Given the description of an element on the screen output the (x, y) to click on. 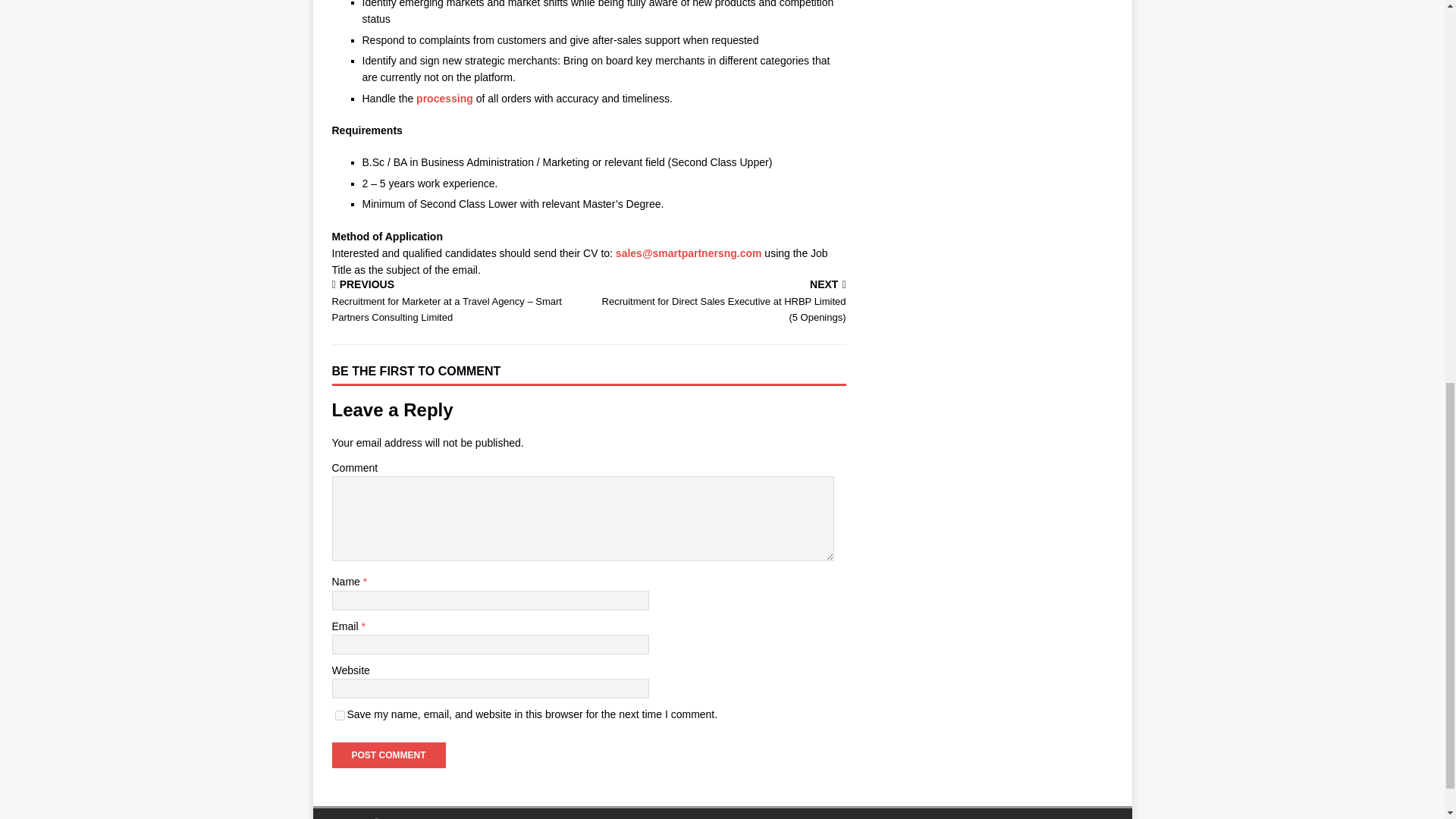
Post Comment (388, 755)
processing (444, 98)
yes (339, 715)
Post Comment (388, 755)
